Given the description of an element on the screen output the (x, y) to click on. 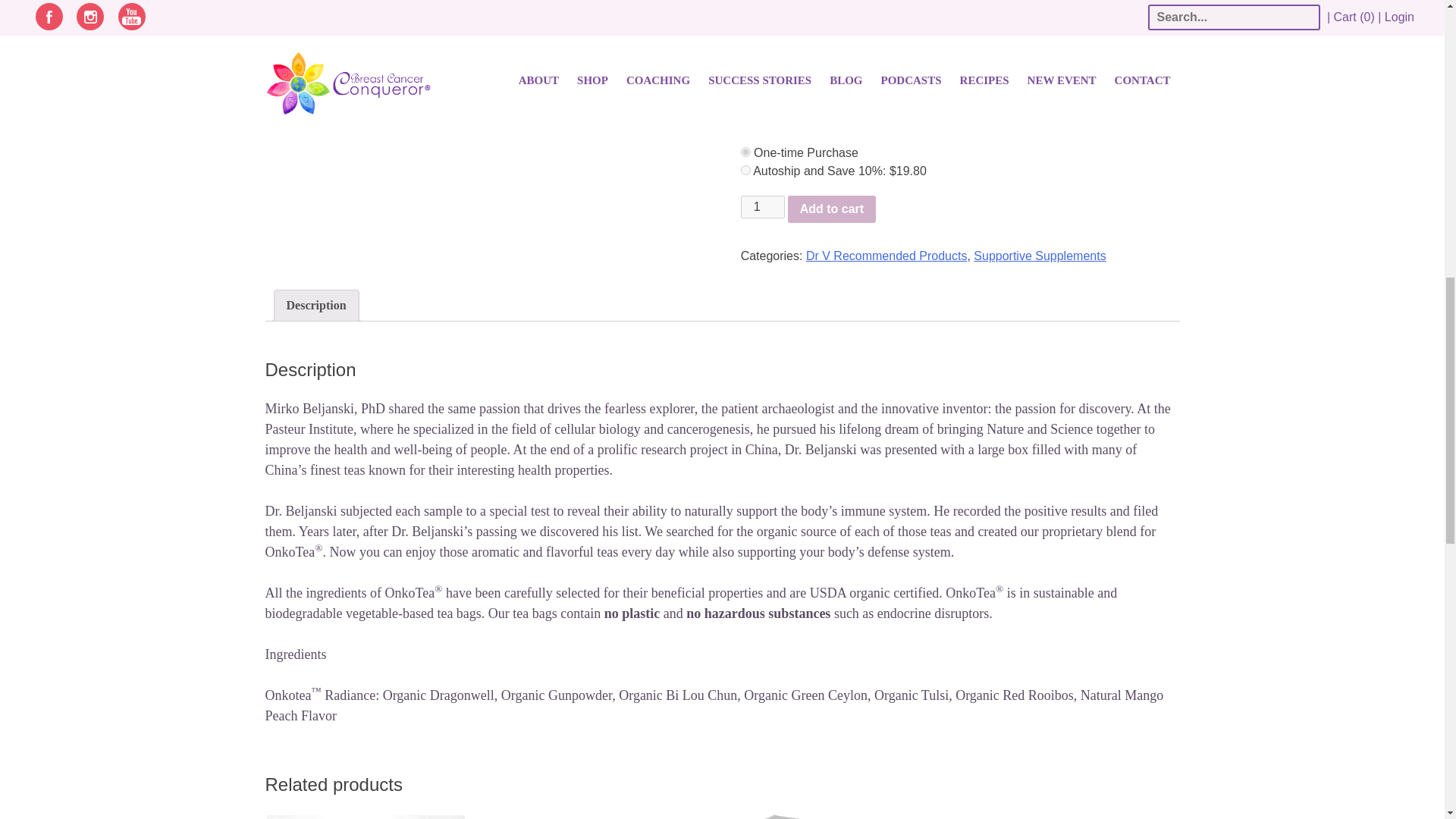
Qty (762, 206)
Add to cart (831, 208)
Description (316, 305)
Dr V Recommended Products (887, 255)
yes (746, 170)
Supportive Supplements (1039, 255)
1 (762, 206)
no (746, 152)
